Given the description of an element on the screen output the (x, y) to click on. 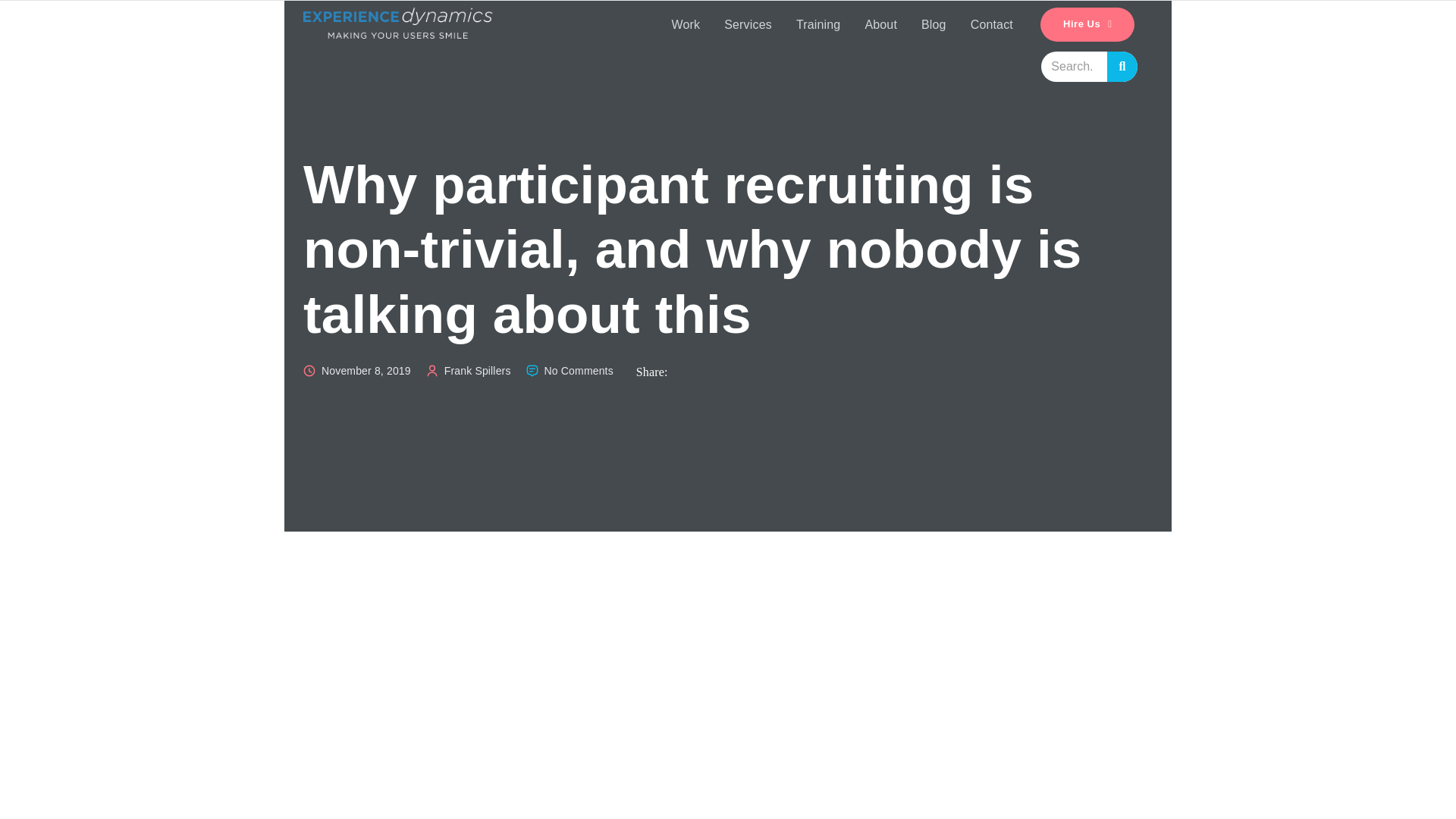
Contact (991, 24)
About (879, 24)
Work (686, 24)
Services (747, 24)
Blog (933, 24)
Training (818, 24)
